Given the description of an element on the screen output the (x, y) to click on. 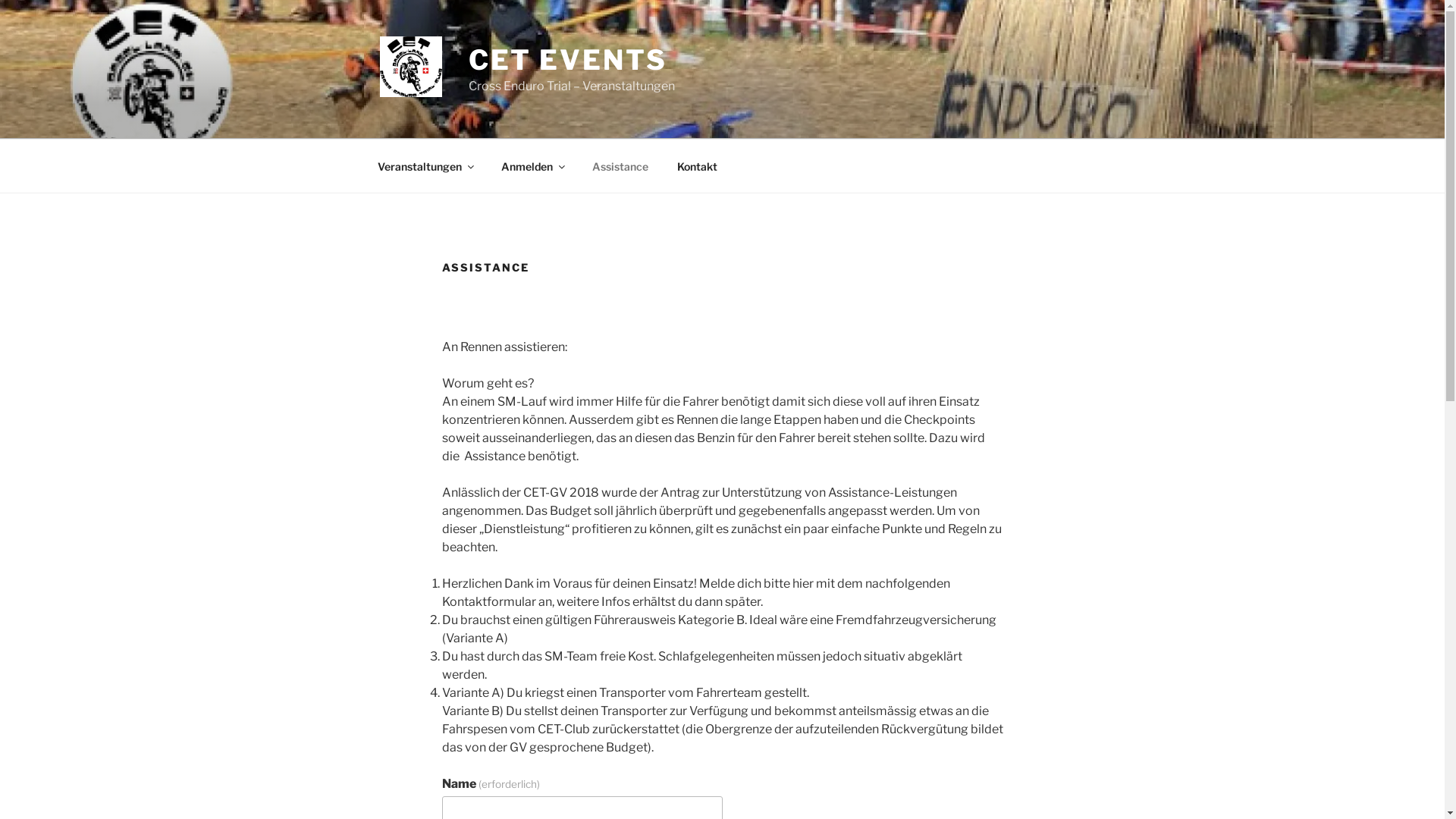
Assistance Element type: text (620, 165)
Veranstaltungen Element type: text (424, 165)
CET EVENTS Element type: text (567, 59)
Kontakt Element type: text (697, 165)
Anmelden Element type: text (532, 165)
